Given the description of an element on the screen output the (x, y) to click on. 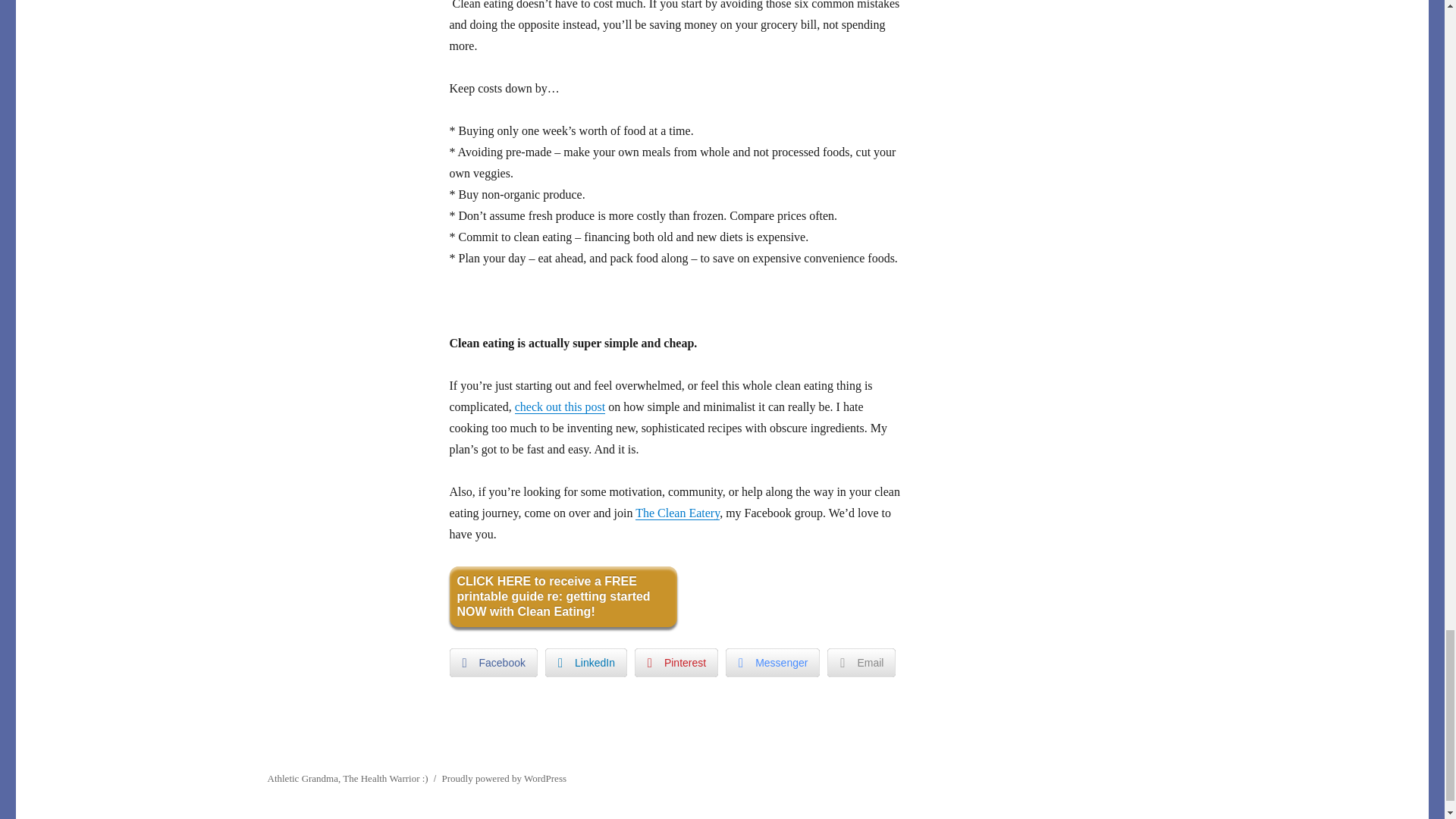
Pinterest (675, 662)
Email (861, 662)
The Clean Eatery (676, 512)
Messenger (772, 662)
check out this post (560, 406)
LinkedIn (585, 662)
Facebook (492, 662)
